Given the description of an element on the screen output the (x, y) to click on. 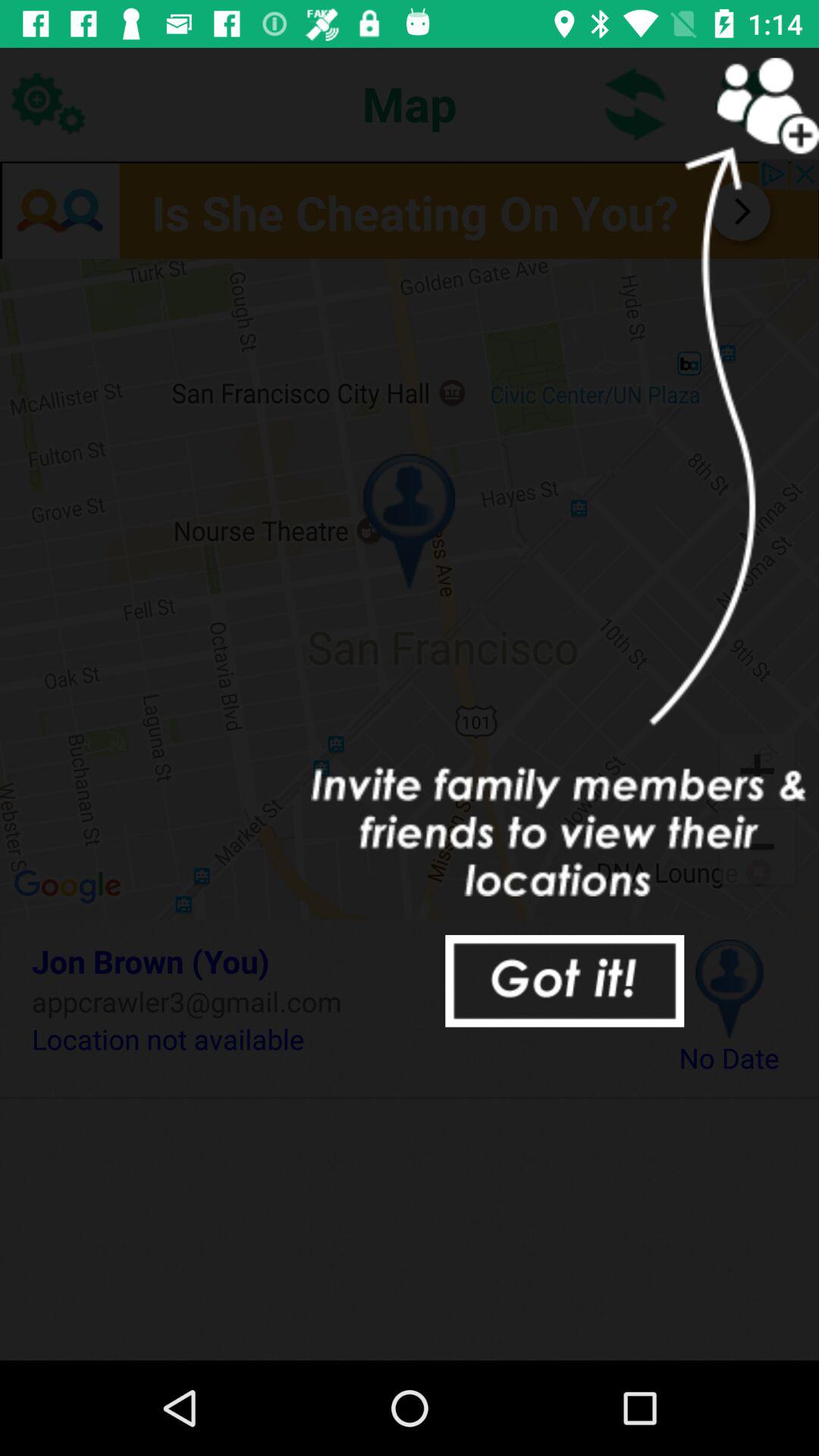
got it (564, 980)
